Given the description of an element on the screen output the (x, y) to click on. 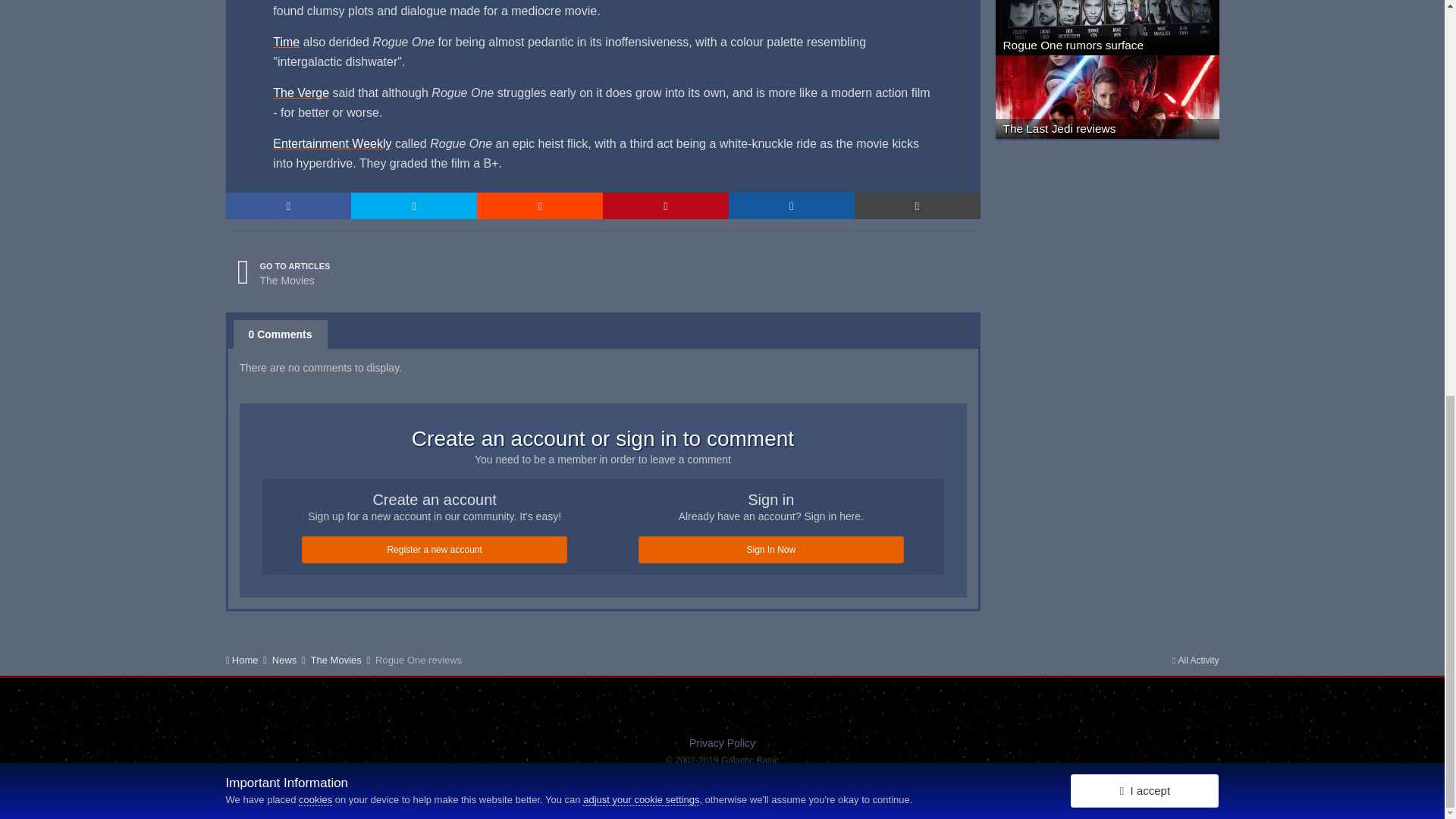
Share on Reddit (539, 205)
0 Comments (279, 334)
Go to The Movies (283, 273)
Share on Pinterest (665, 205)
Share on Facebook (288, 205)
Share on Digg (791, 205)
Share on Twitter (413, 205)
Share via email (916, 205)
